Given the description of an element on the screen output the (x, y) to click on. 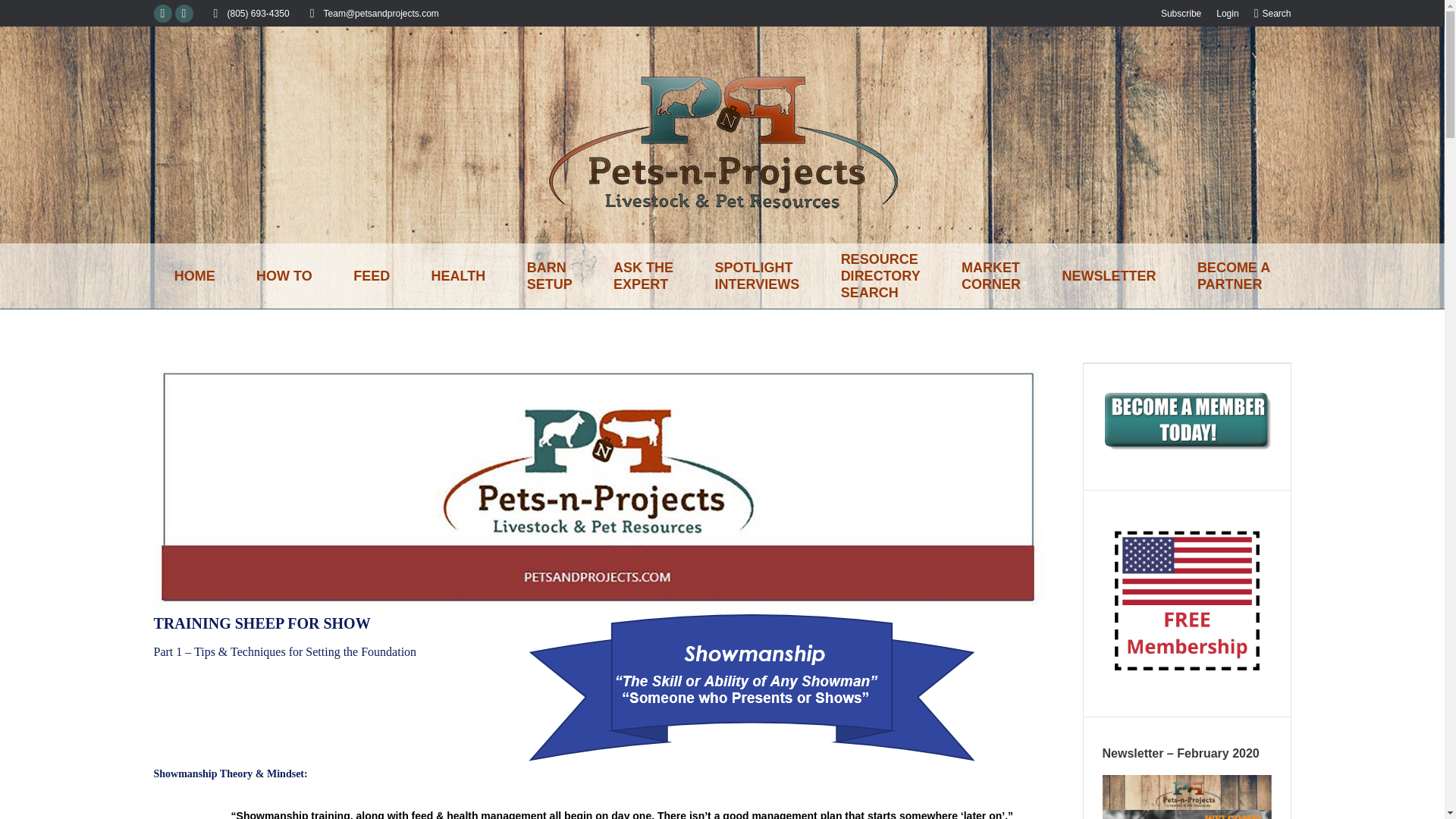
HOME (643, 275)
FEED (193, 275)
Facebook page opens in new window (371, 275)
Go! (161, 13)
Search (24, 16)
Instagram page opens in new window (1272, 12)
Subscribe (183, 13)
Facebook page opens in new window (1180, 12)
Petsandprojects Header - Berry1600 (879, 275)
Instagram page opens in new window (756, 275)
SHOWMANSHIP BANNER (161, 13)
